Given the description of an element on the screen output the (x, y) to click on. 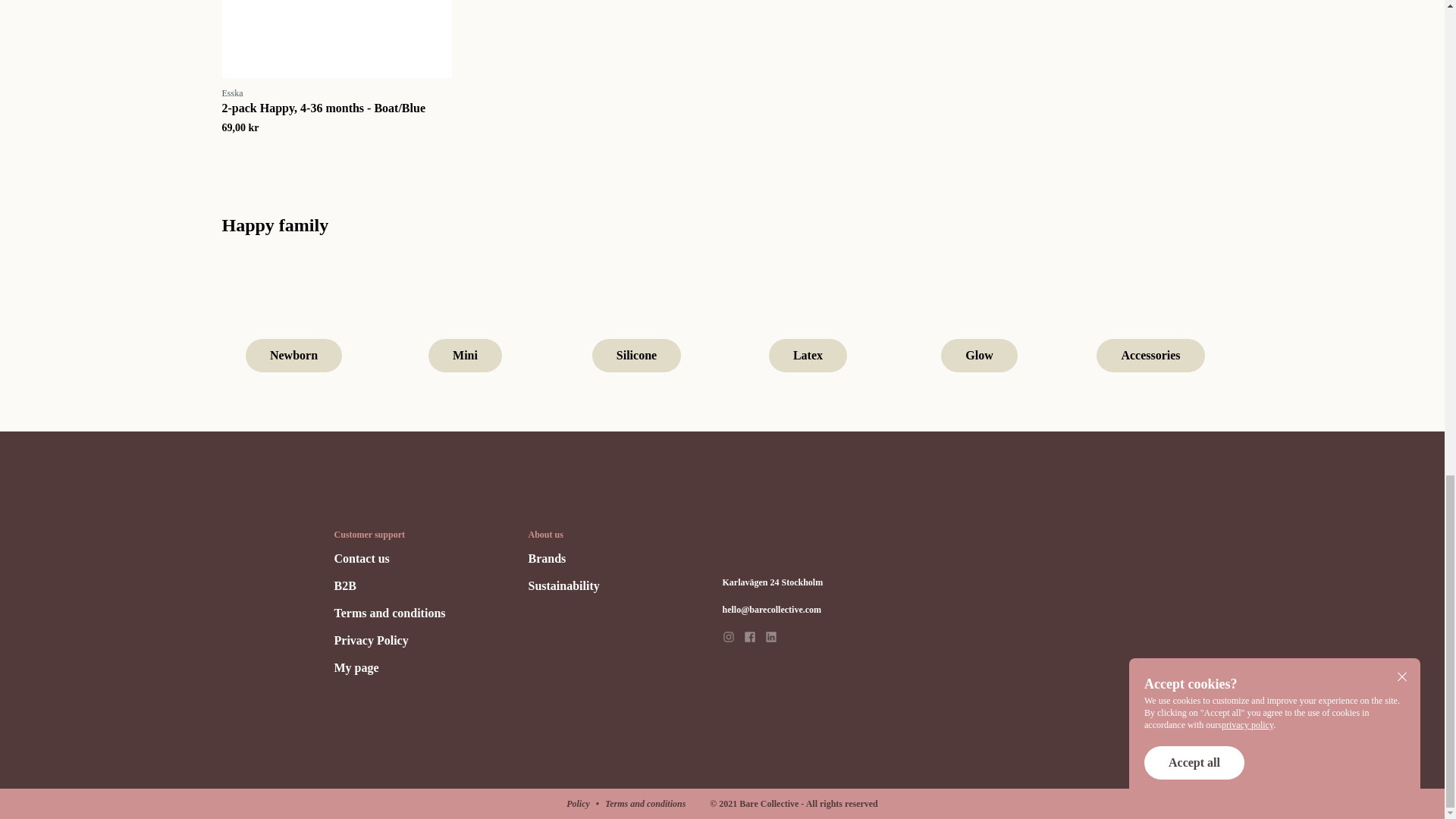
Newborn (293, 322)
Silicone (635, 322)
Glow (979, 322)
Accessories (1150, 322)
Latex (807, 322)
Mini (465, 322)
